Given the description of an element on the screen output the (x, y) to click on. 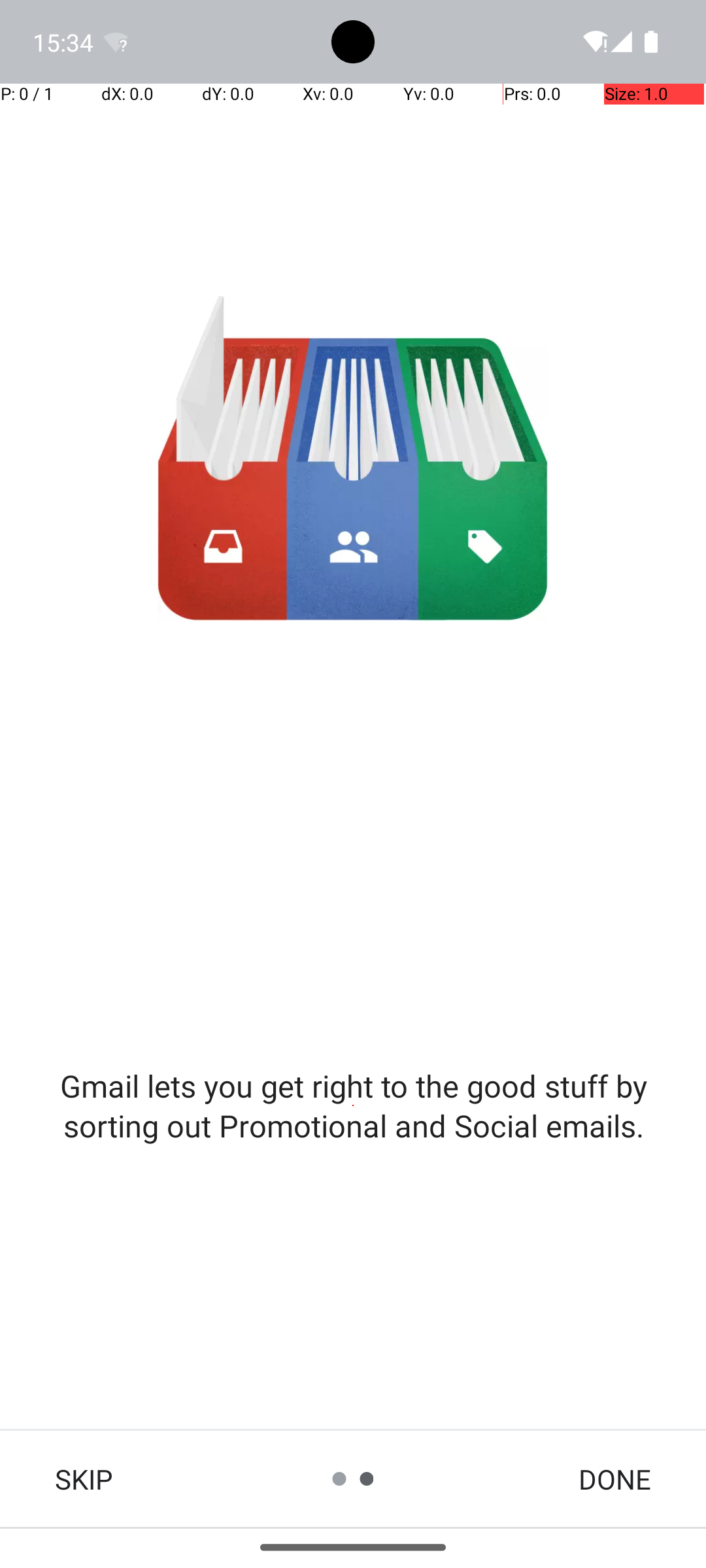
SKIP Element type: android.widget.TextView (83, 1478)
Gmail lets you get right to the good stuff by sorting out Promotional and Social emails. Element type: android.widget.TextView (352, 1105)
